Given the description of an element on the screen output the (x, y) to click on. 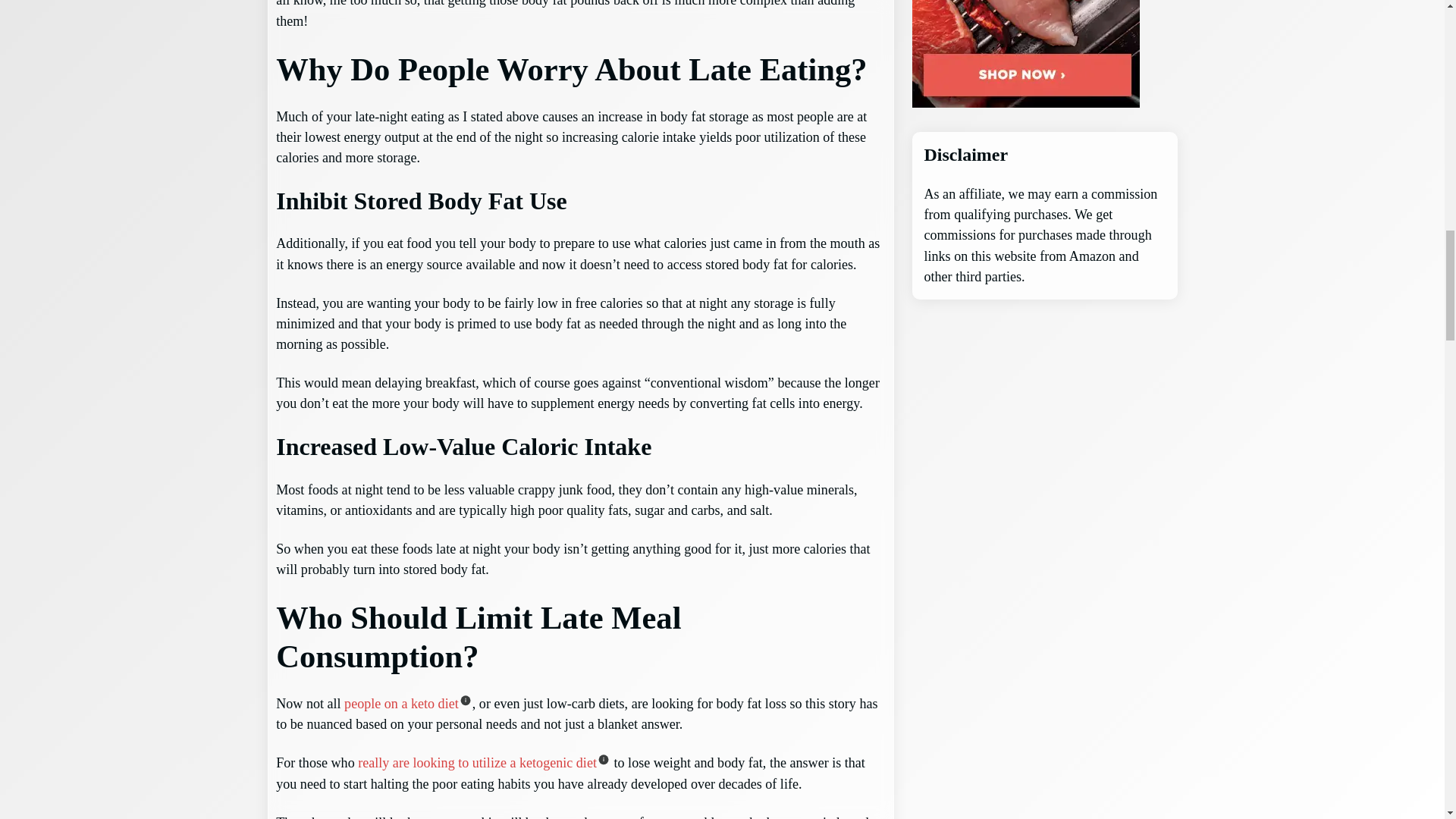
people on a keto diet (400, 703)
really are looking to utilize a ketogenic diet (477, 762)
